Given the description of an element on the screen output the (x, y) to click on. 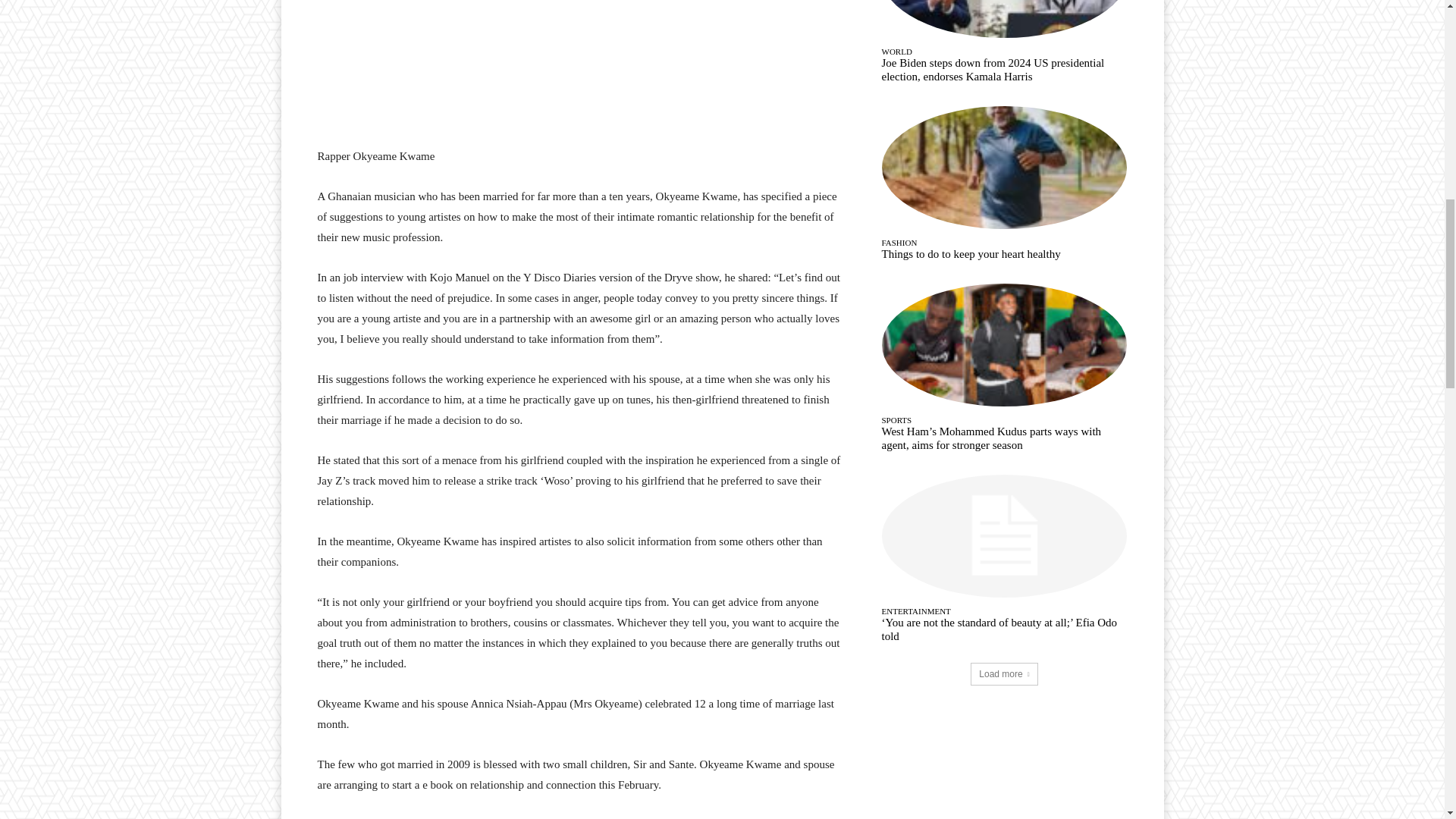
Rapper Okyeame Kwame (428, 65)
